Given the description of an element on the screen output the (x, y) to click on. 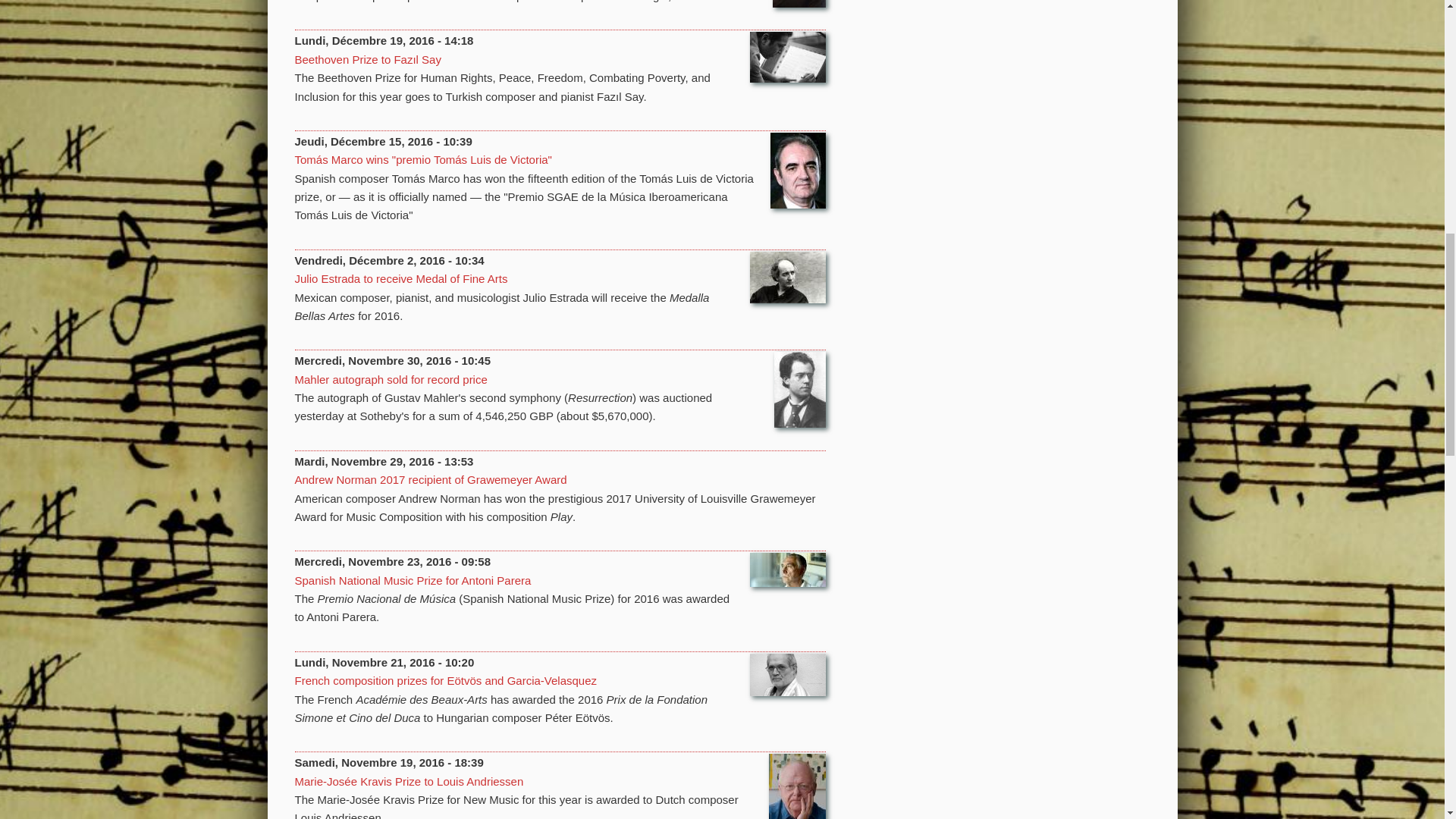
Spanish National Music Prize for Antoni Parera (412, 580)
Andrew Norman 2017 recipient of Grawemeyer Award (430, 479)
Julio Estrada to receive Medal of Fine Arts (400, 278)
Mahler autograph sold for record price (390, 379)
